Given the description of an element on the screen output the (x, y) to click on. 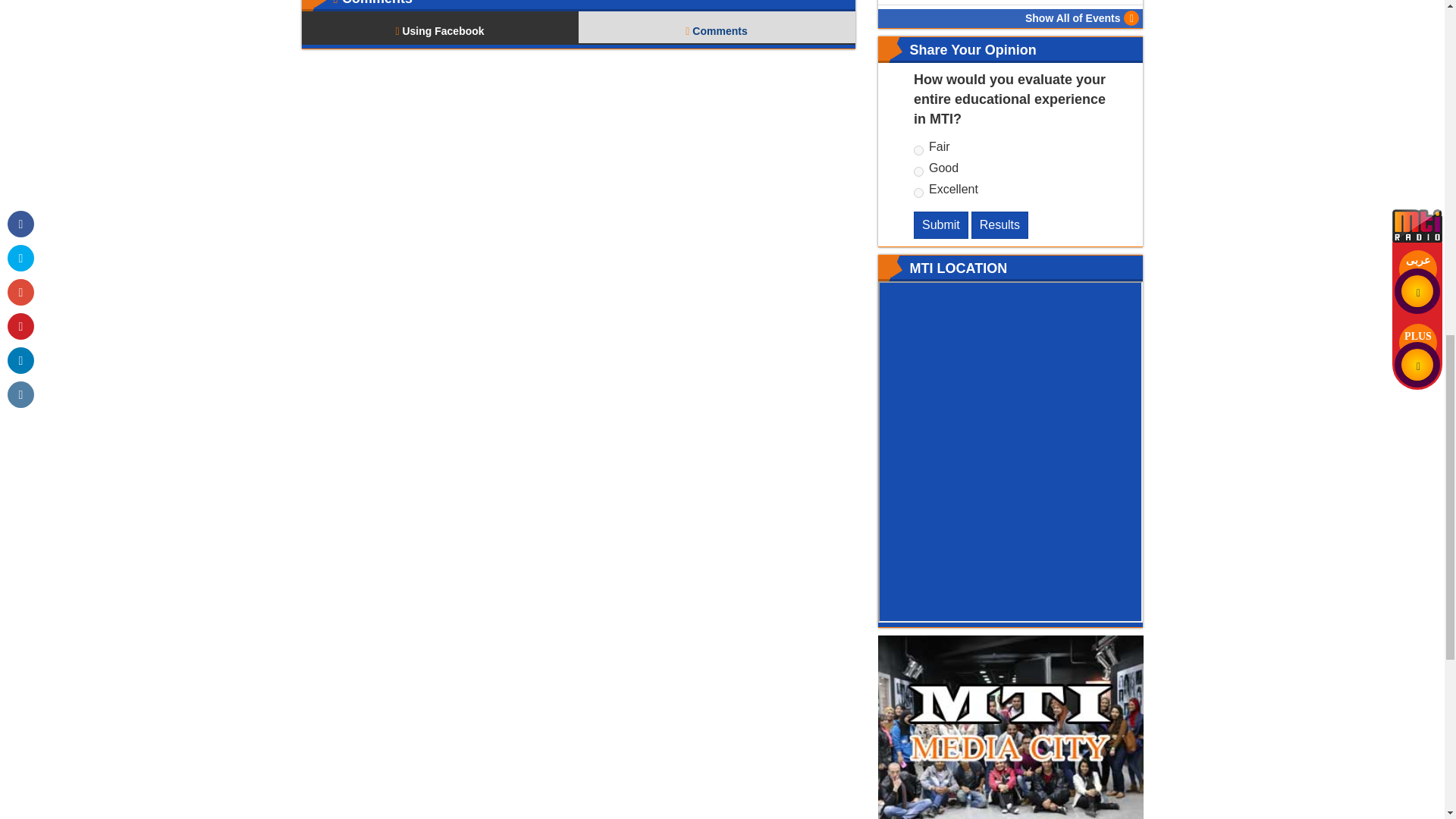
on (918, 193)
on (918, 171)
on (918, 150)
